Given the description of an element on the screen output the (x, y) to click on. 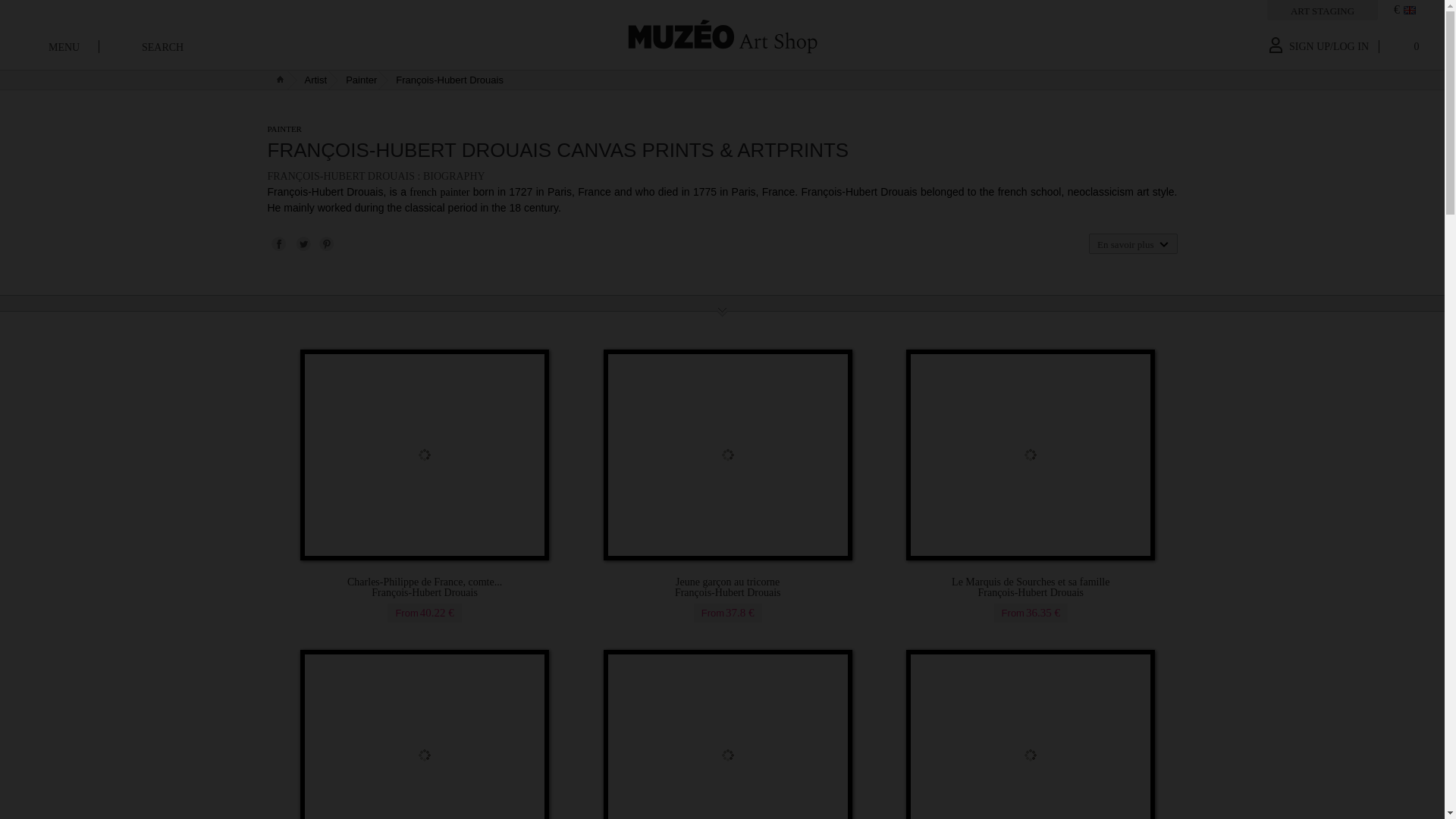
Art Staging (1321, 10)
0 (1404, 50)
Twitter (302, 242)
Facebook (277, 242)
Le Marquis de Sourches et sa famille (1030, 587)
Home (722, 34)
ART STAGING (1321, 10)
